Given the description of an element on the screen output the (x, y) to click on. 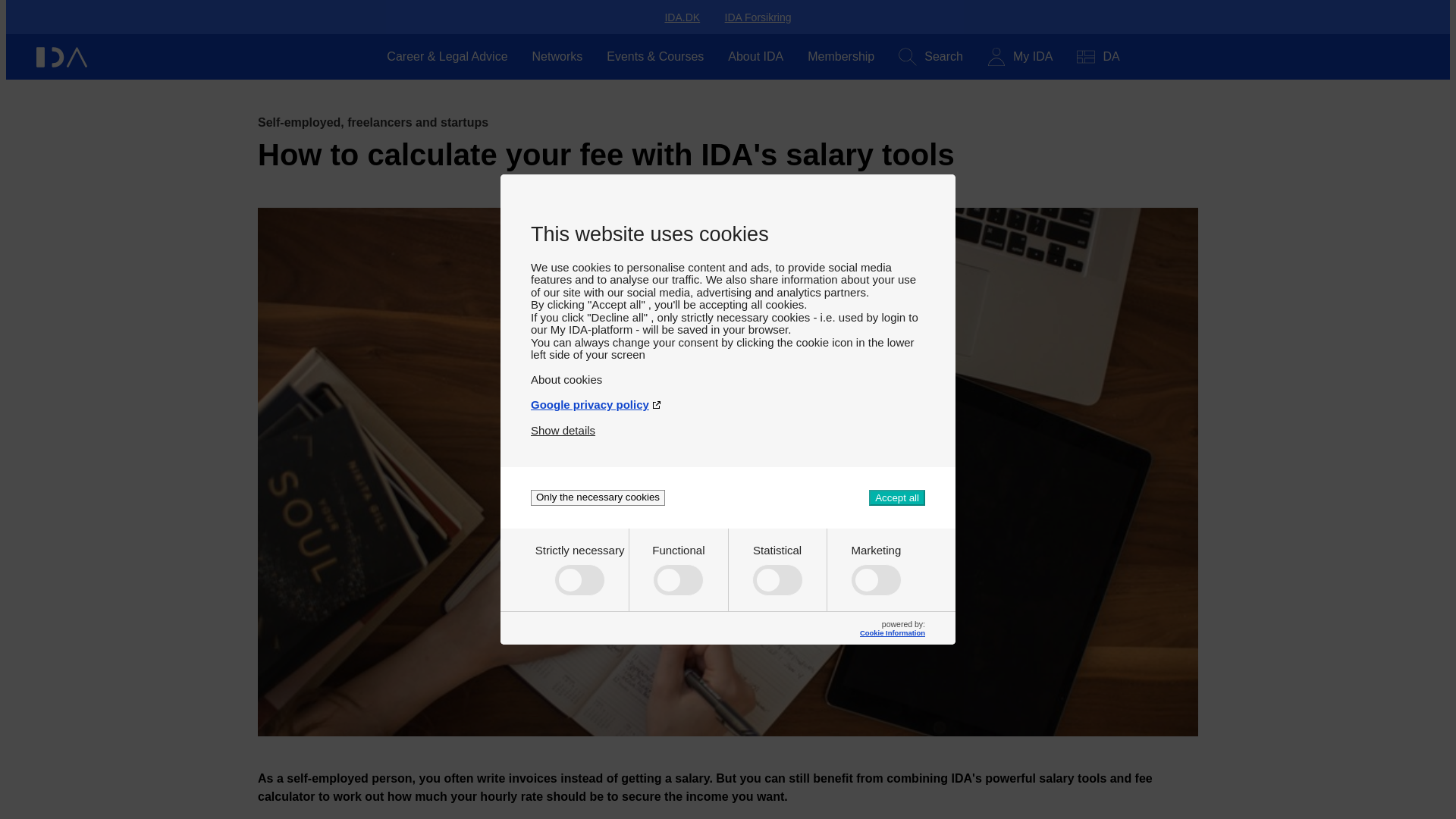
Google privacy policy (727, 398)
About cookies (727, 373)
Show details (563, 423)
